Given the description of an element on the screen output the (x, y) to click on. 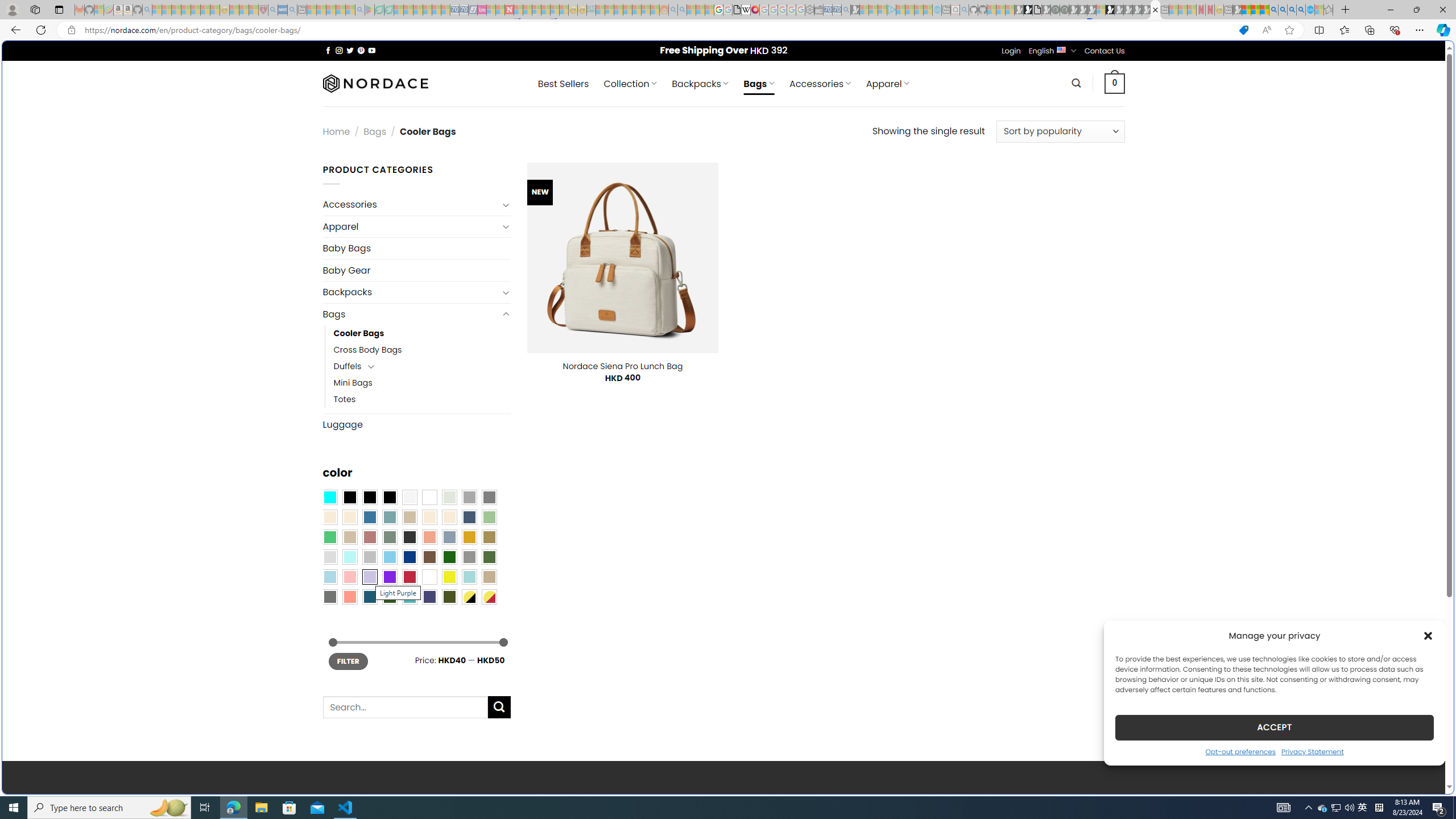
Cream (449, 517)
Submit (499, 707)
Privacy Statement (1312, 750)
ACCEPT (1274, 727)
Cross Body Bags (367, 349)
google - Search - Sleeping (359, 9)
Navy Blue (408, 557)
Coral (429, 536)
Cooler Bags (422, 333)
Class: cmplz-close (1428, 635)
